Given the description of an element on the screen output the (x, y) to click on. 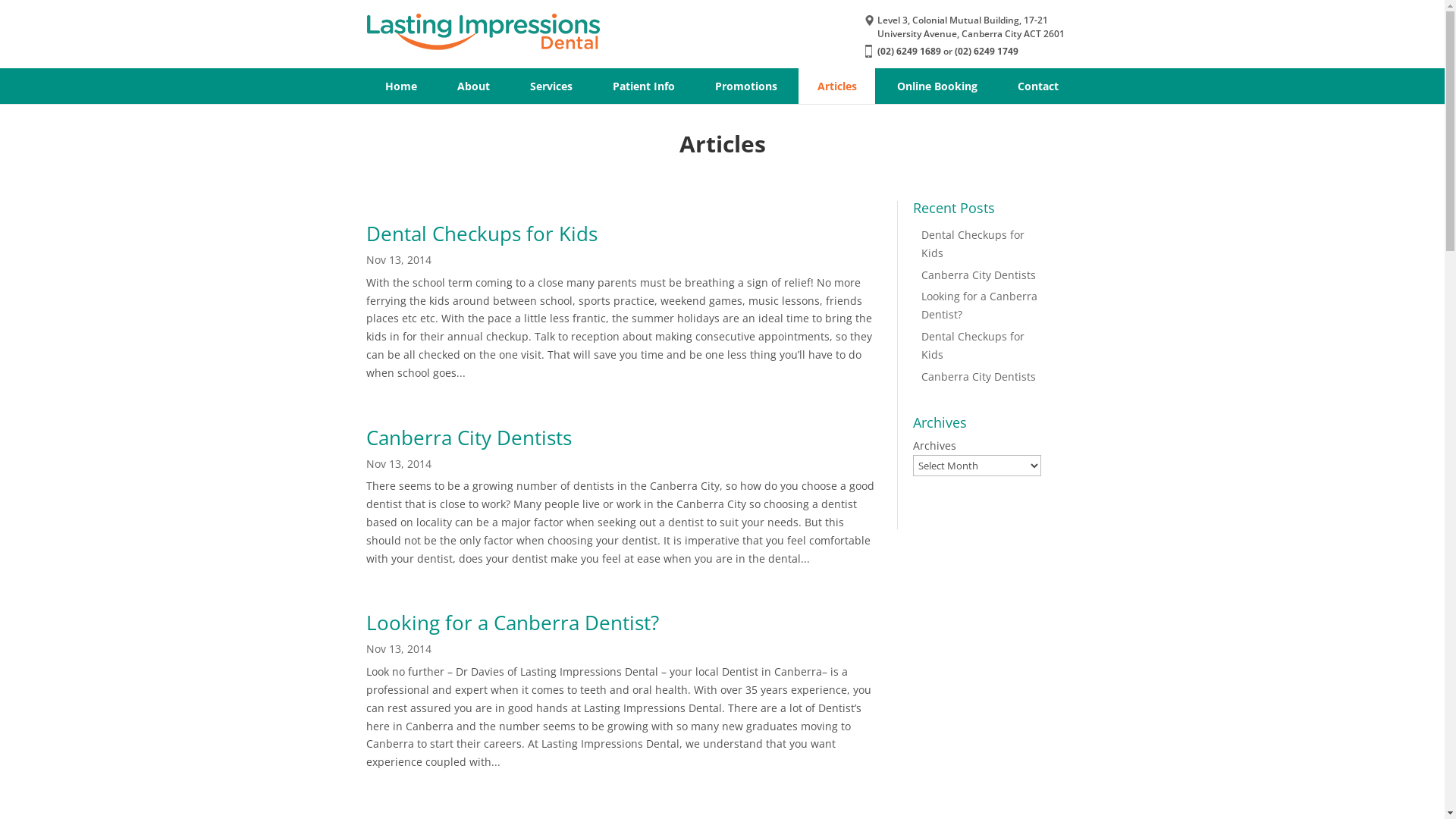
Looking for a Canberra Dentist? Element type: text (511, 622)
Services Element type: text (550, 85)
Canberra City Dentists Element type: text (977, 274)
Promotions Element type: text (745, 85)
Online Booking Element type: text (936, 85)
Articles Element type: text (835, 85)
Looking for a Canberra Dentist? Element type: text (978, 304)
Canberra City Dentists Element type: text (977, 376)
Canberra City Dentists Element type: text (468, 437)
Contact Element type: text (1036, 85)
Dental Checkups for Kids Element type: text (971, 345)
About Element type: text (473, 85)
Patient Info Element type: text (642, 85)
Home Element type: text (399, 85)
Dental Checkups for Kids Element type: text (971, 243)
Dental Checkups for Kids Element type: text (480, 233)
